Given the description of an element on the screen output the (x, y) to click on. 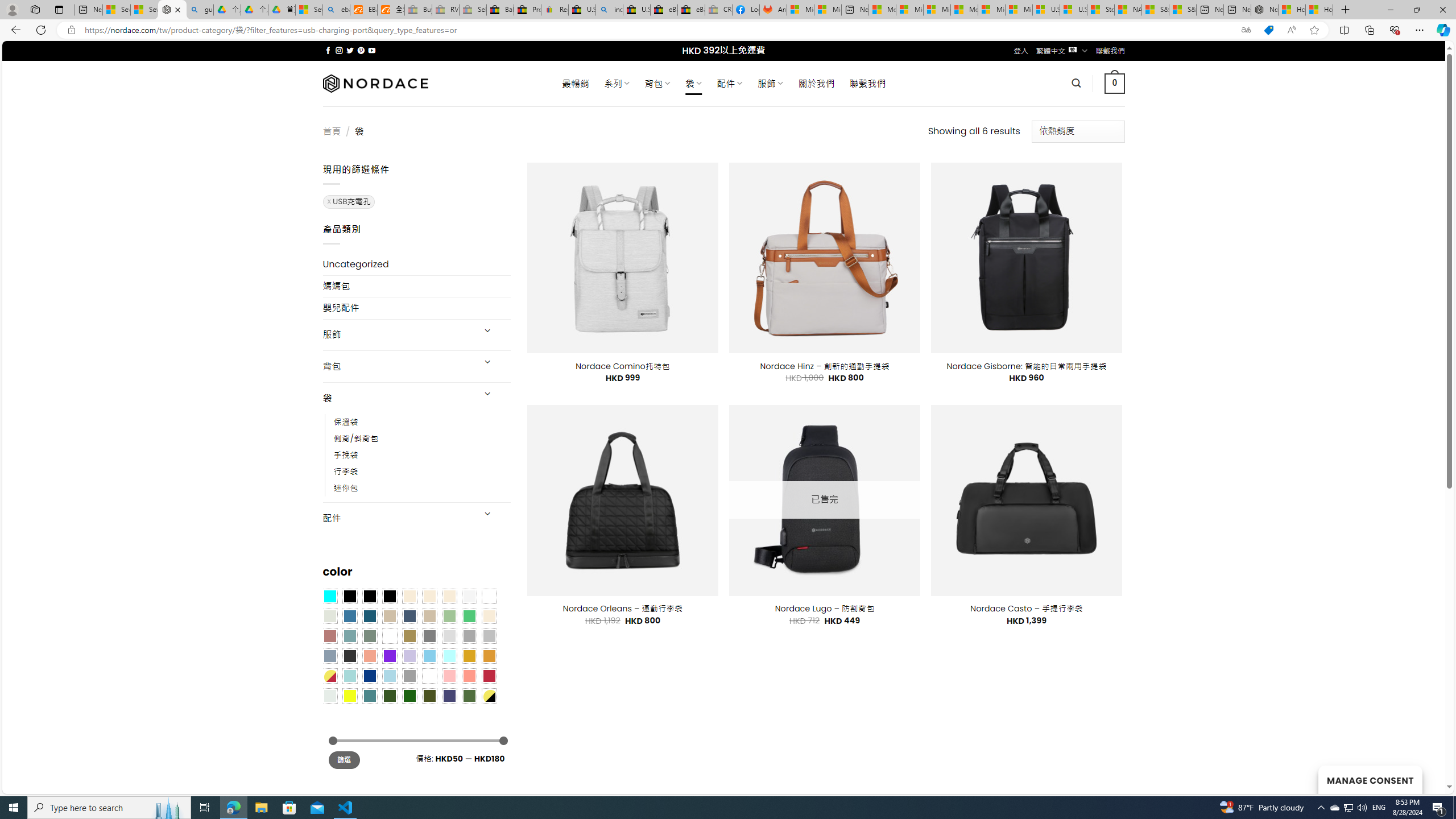
  0   (1115, 83)
Follow on Pinterest (360, 50)
